Given the description of an element on the screen output the (x, y) to click on. 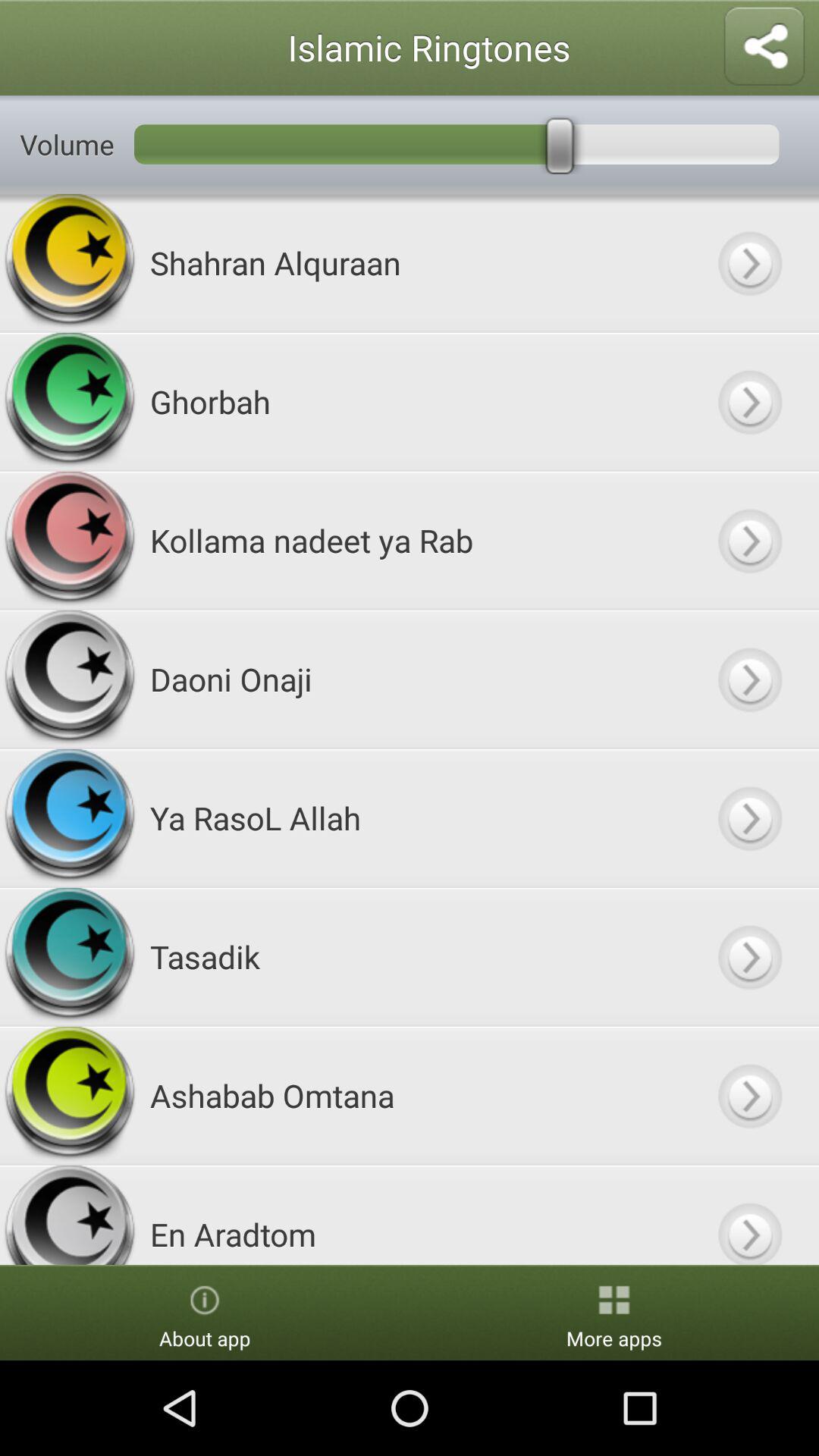
go to next option (749, 956)
